Given the description of an element on the screen output the (x, y) to click on. 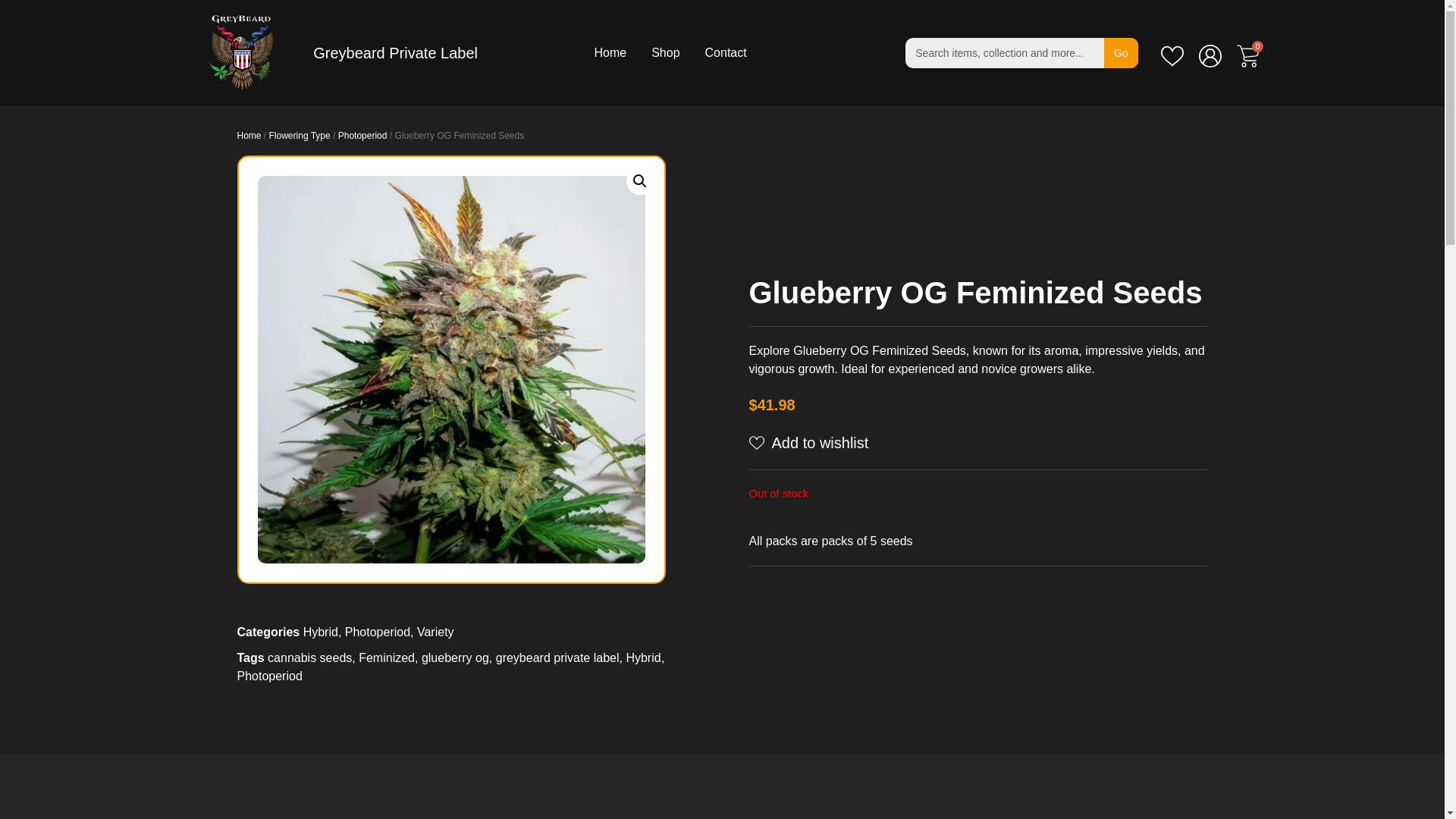
0 (1247, 56)
Flowering Type (299, 135)
Search (1120, 52)
Photoperiod (362, 135)
Home (610, 52)
Hybrid (319, 631)
Contact (725, 52)
Shop (664, 52)
Search (1004, 52)
Greybeard Private Label (395, 53)
Home (247, 135)
Photoperiod (377, 631)
Go (1120, 52)
